Given the description of an element on the screen output the (x, y) to click on. 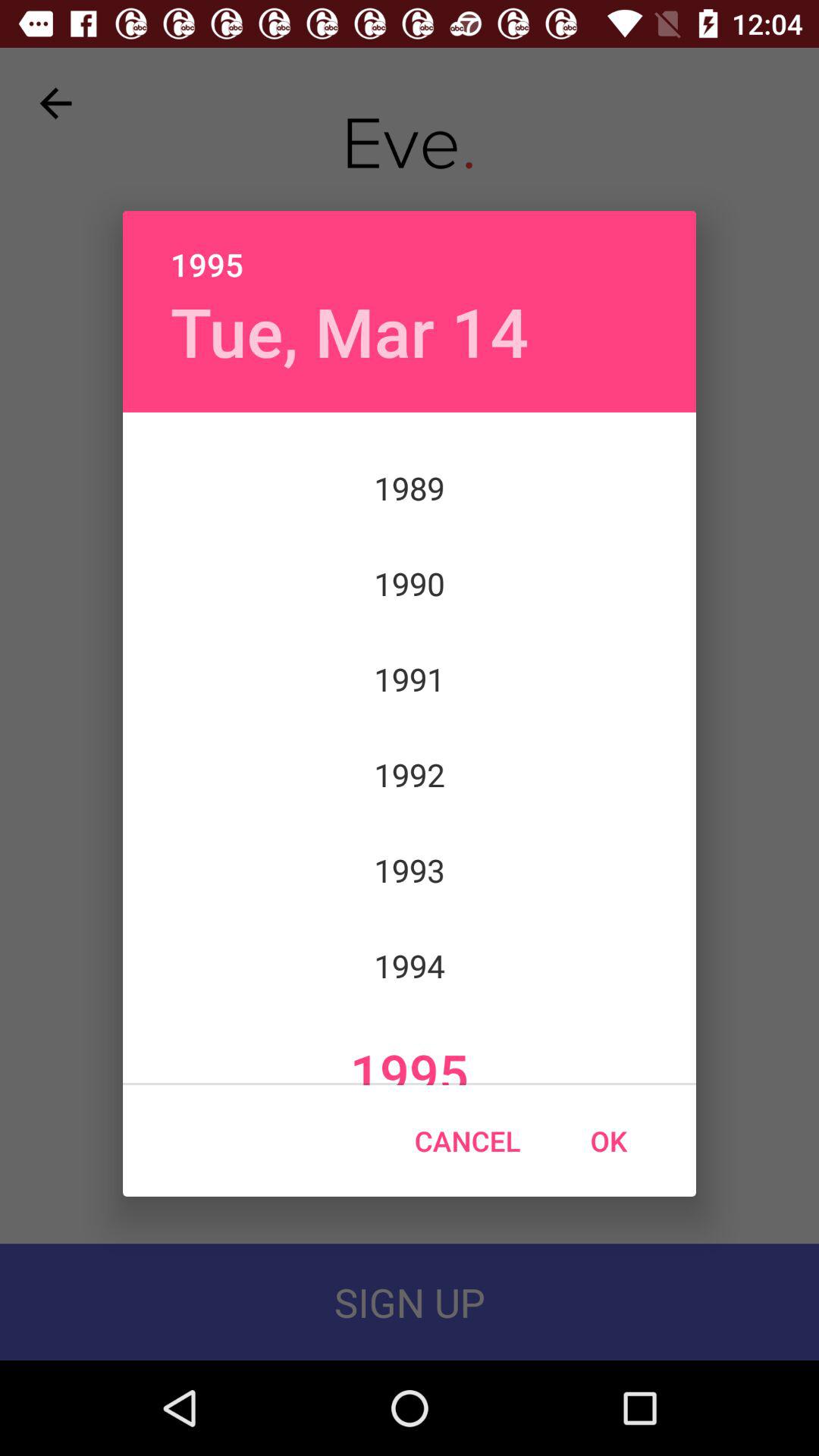
turn off item to the right of the cancel icon (608, 1140)
